Given the description of an element on the screen output the (x, y) to click on. 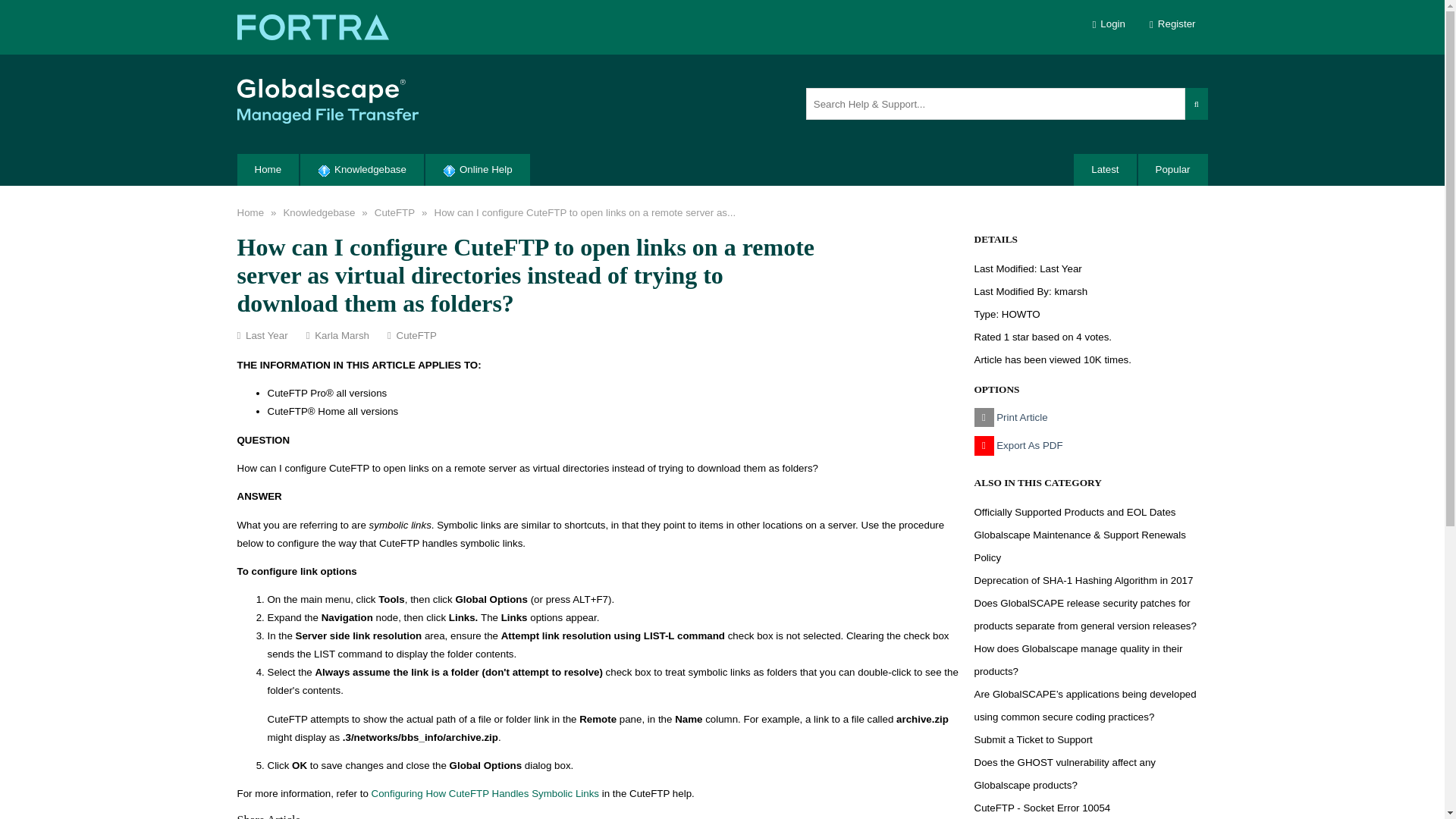
Online Help (477, 169)
CuteFTP (394, 212)
Goto profile... (1070, 291)
Knowledgebase (318, 212)
Knowledgebase (361, 169)
Home (266, 169)
Login (1108, 24)
Online Help (477, 169)
Popular (1173, 169)
